Given the description of an element on the screen output the (x, y) to click on. 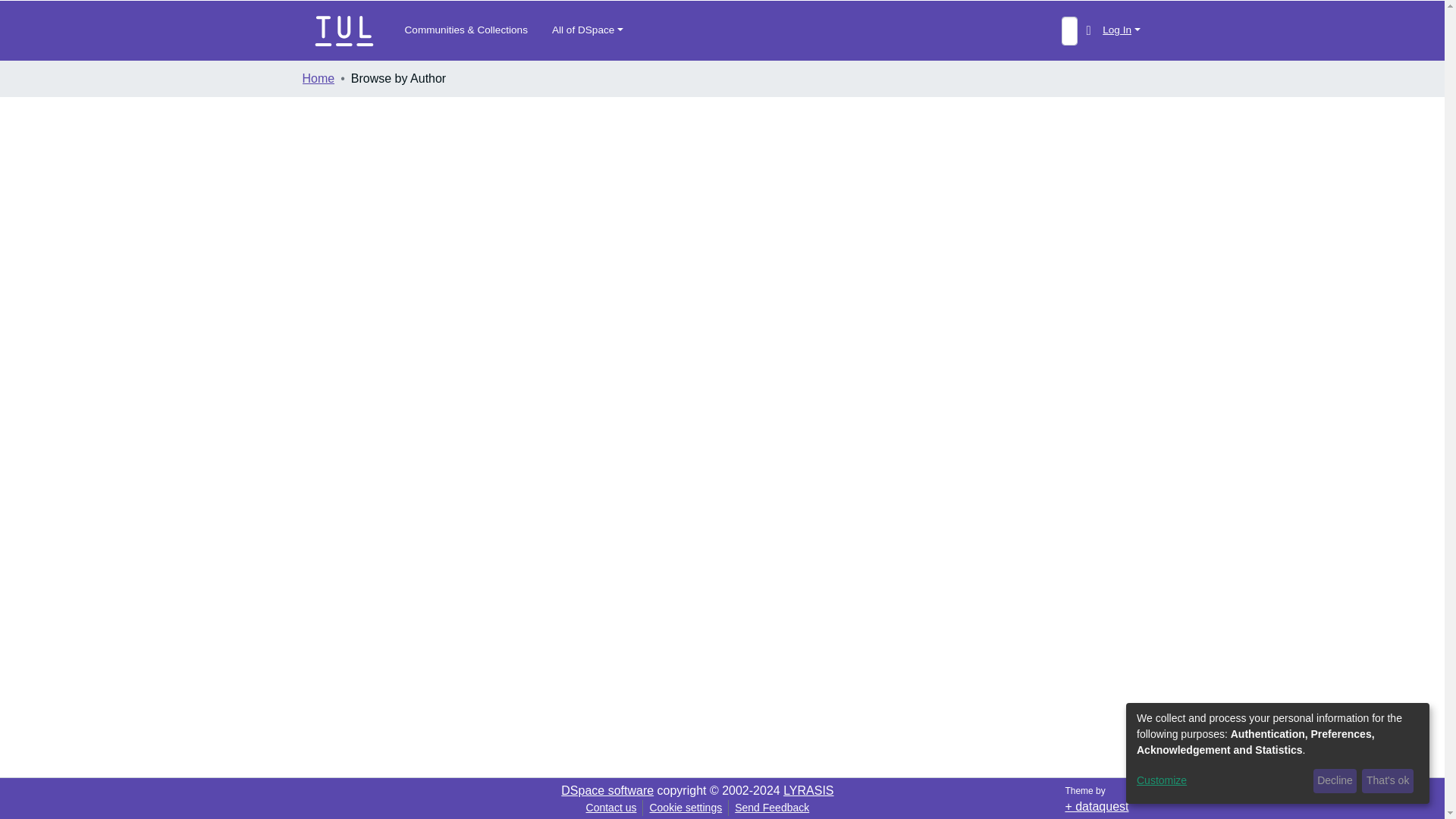
DSpace software (606, 789)
Contact us (611, 806)
All of DSpace (587, 29)
dataquest s.r.o. (1096, 806)
Send Feedback (772, 806)
Home (317, 78)
Language switch (1088, 29)
Cookie settings (685, 806)
Log In (1120, 30)
LYRASIS (807, 789)
